Given the description of an element on the screen output the (x, y) to click on. 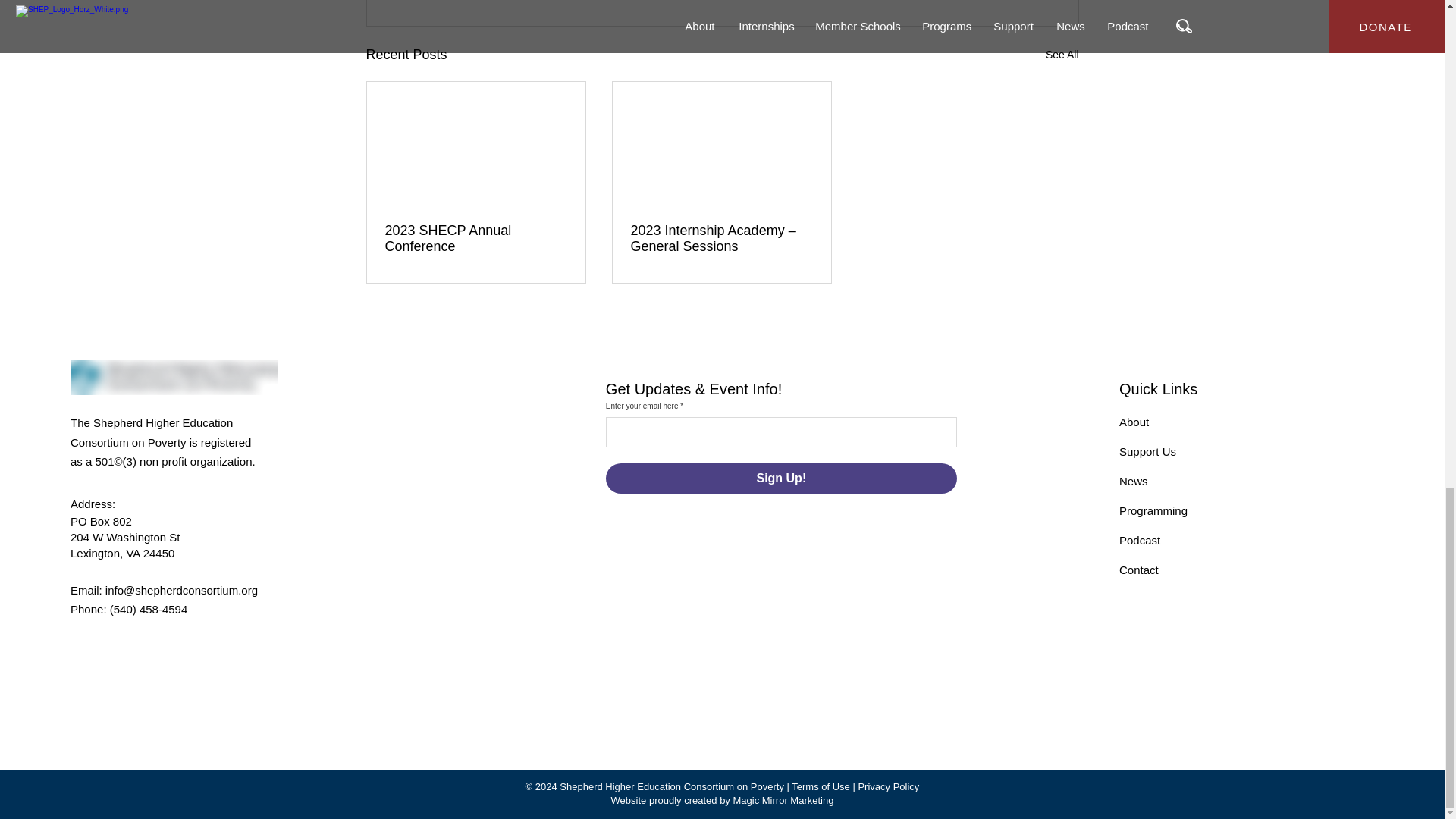
Magic Mirror Marketing (782, 799)
Contact (1138, 569)
See All (1061, 55)
Privacy Policy (887, 786)
About (1133, 421)
Podcast (1139, 540)
News (1133, 481)
2023 SHECP Annual Conference (476, 238)
Terms of Use (821, 786)
Sign Up! (780, 478)
Programming (1153, 510)
Support Us (1147, 451)
